Given the description of an element on the screen output the (x, y) to click on. 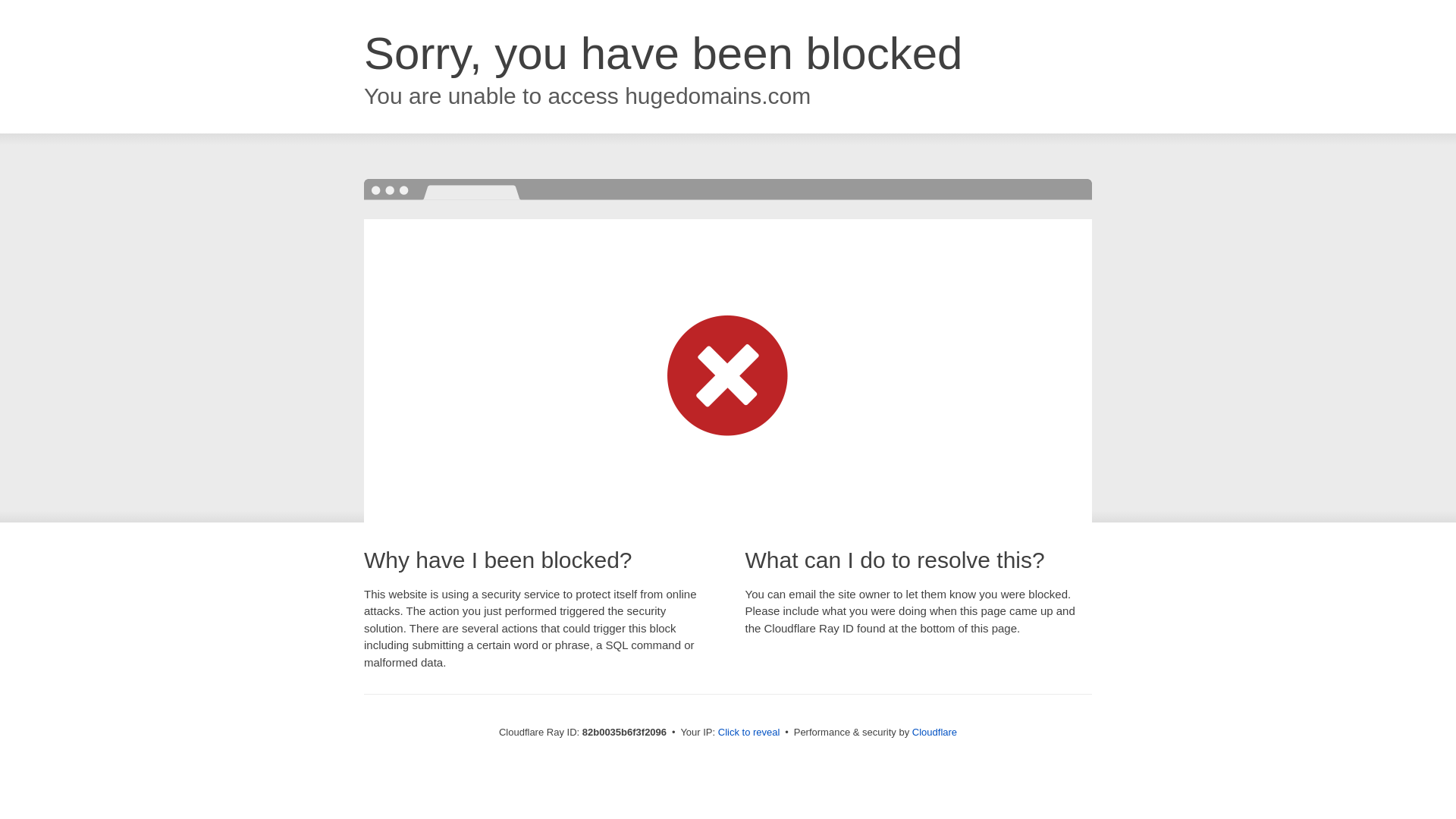
Click to reveal Element type: text (749, 732)
Cloudflare Element type: text (934, 731)
